Given the description of an element on the screen output the (x, y) to click on. 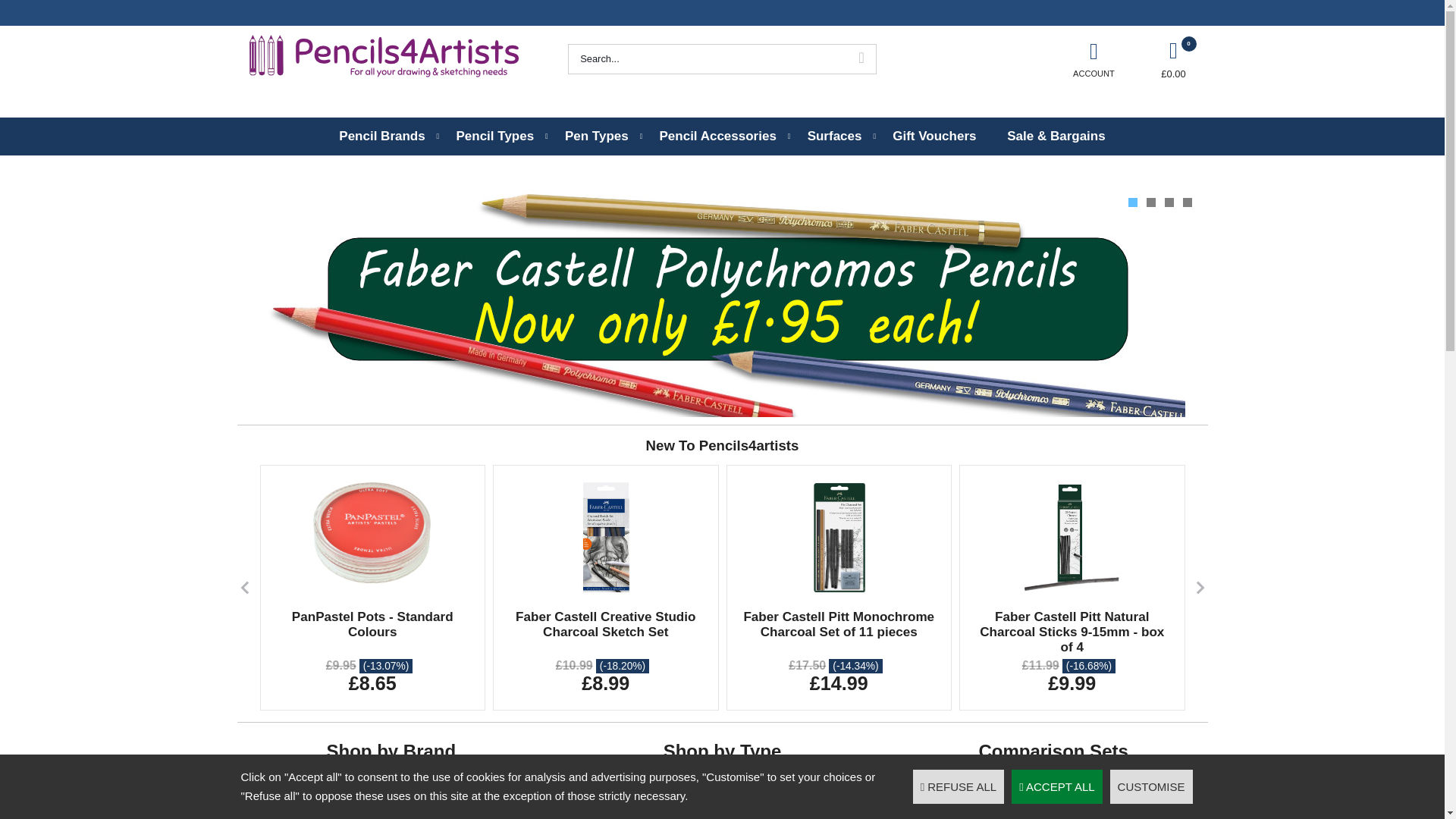
Pencil Types (494, 136)
Pencil Brands (382, 136)
ACCOUNT (1094, 58)
Search... (707, 59)
Search... (707, 59)
